Given the description of an element on the screen output the (x, y) to click on. 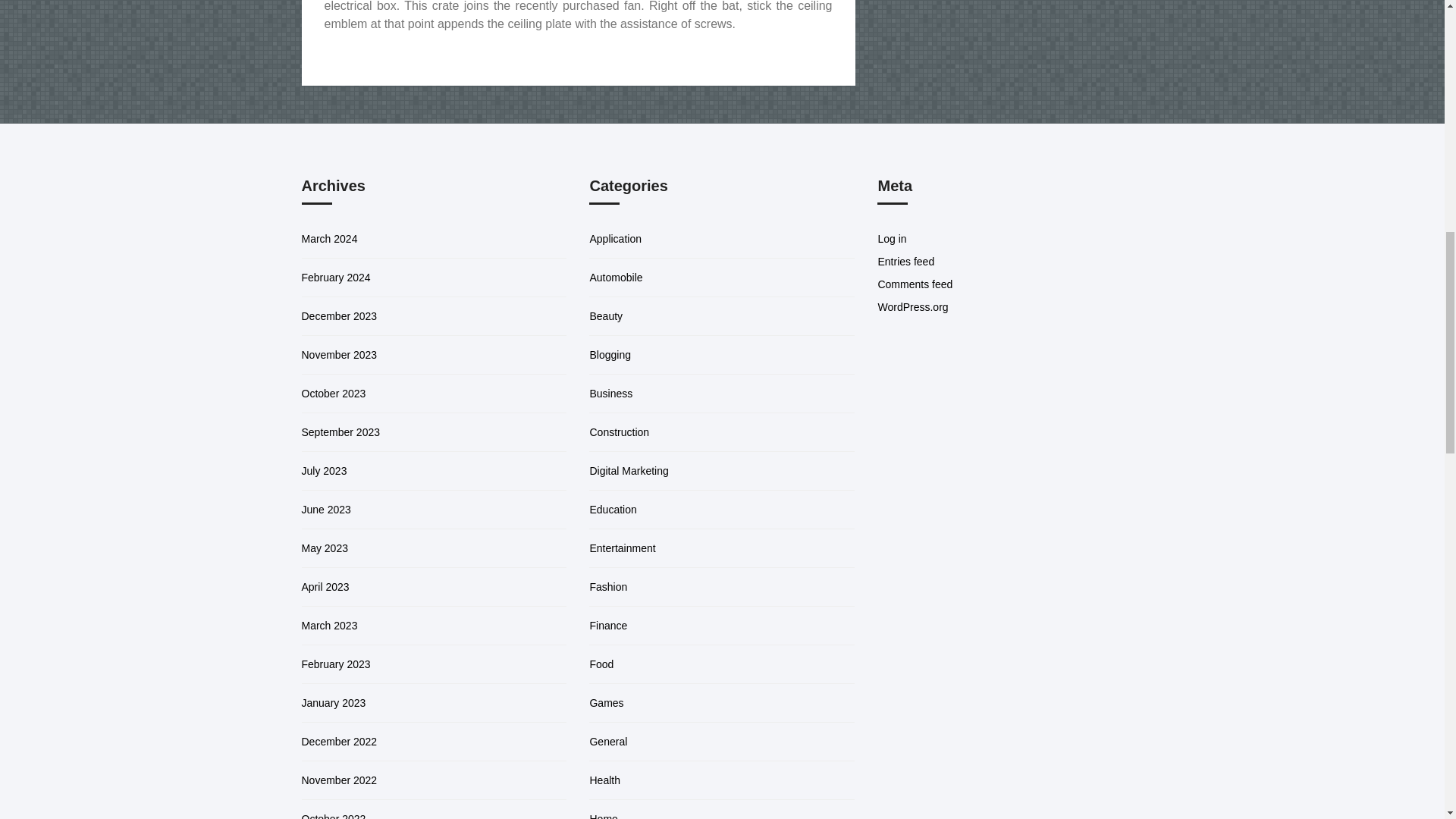
December 2022 (339, 741)
March 2024 (329, 238)
June 2023 (325, 509)
February 2023 (336, 664)
May 2023 (324, 548)
November 2022 (339, 779)
January 2023 (333, 702)
November 2023 (339, 354)
July 2023 (324, 470)
March 2023 (329, 625)
